Given the description of an element on the screen output the (x, y) to click on. 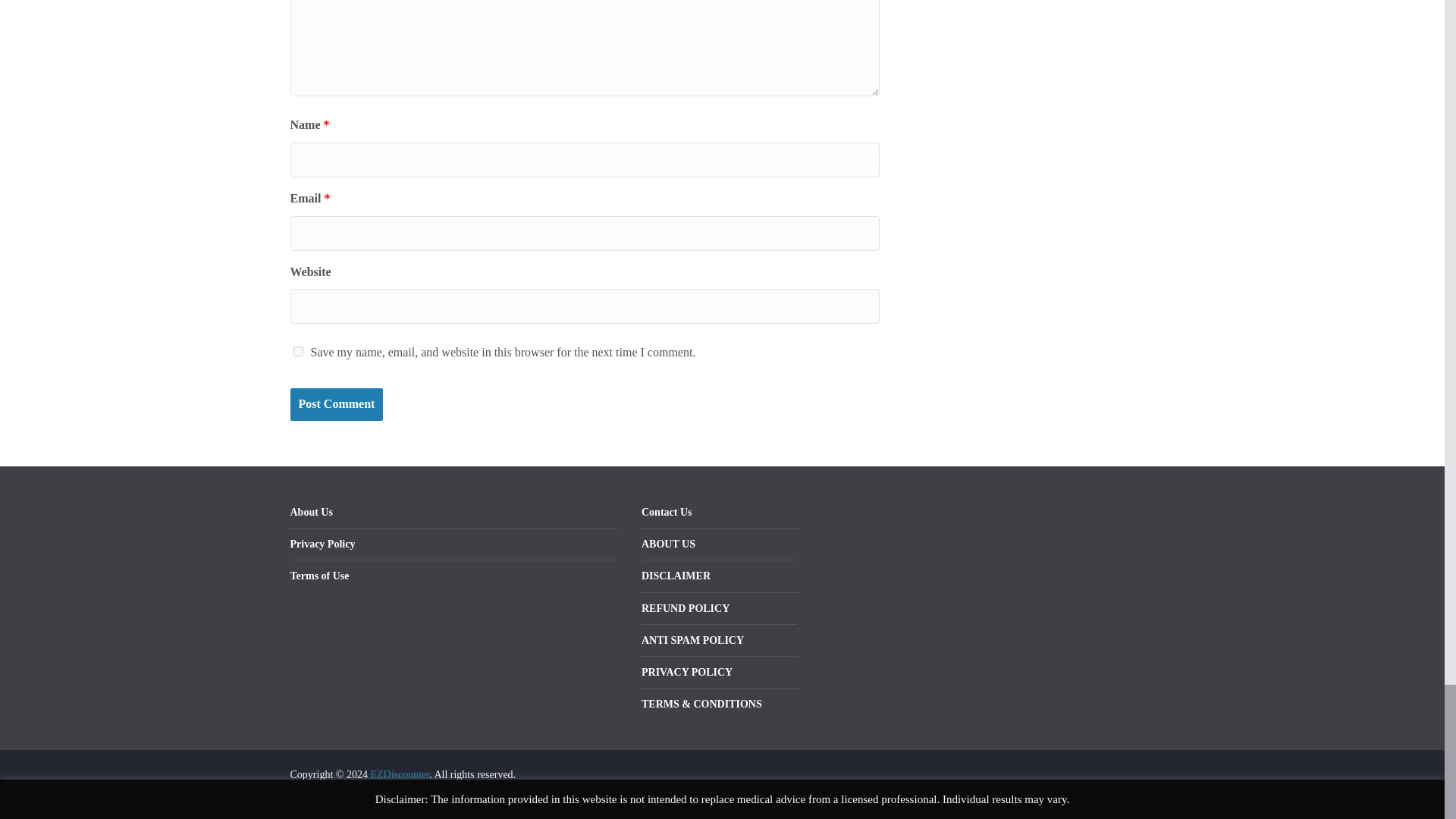
yes (297, 351)
Post Comment (335, 404)
Post Comment (335, 404)
